Given the description of an element on the screen output the (x, y) to click on. 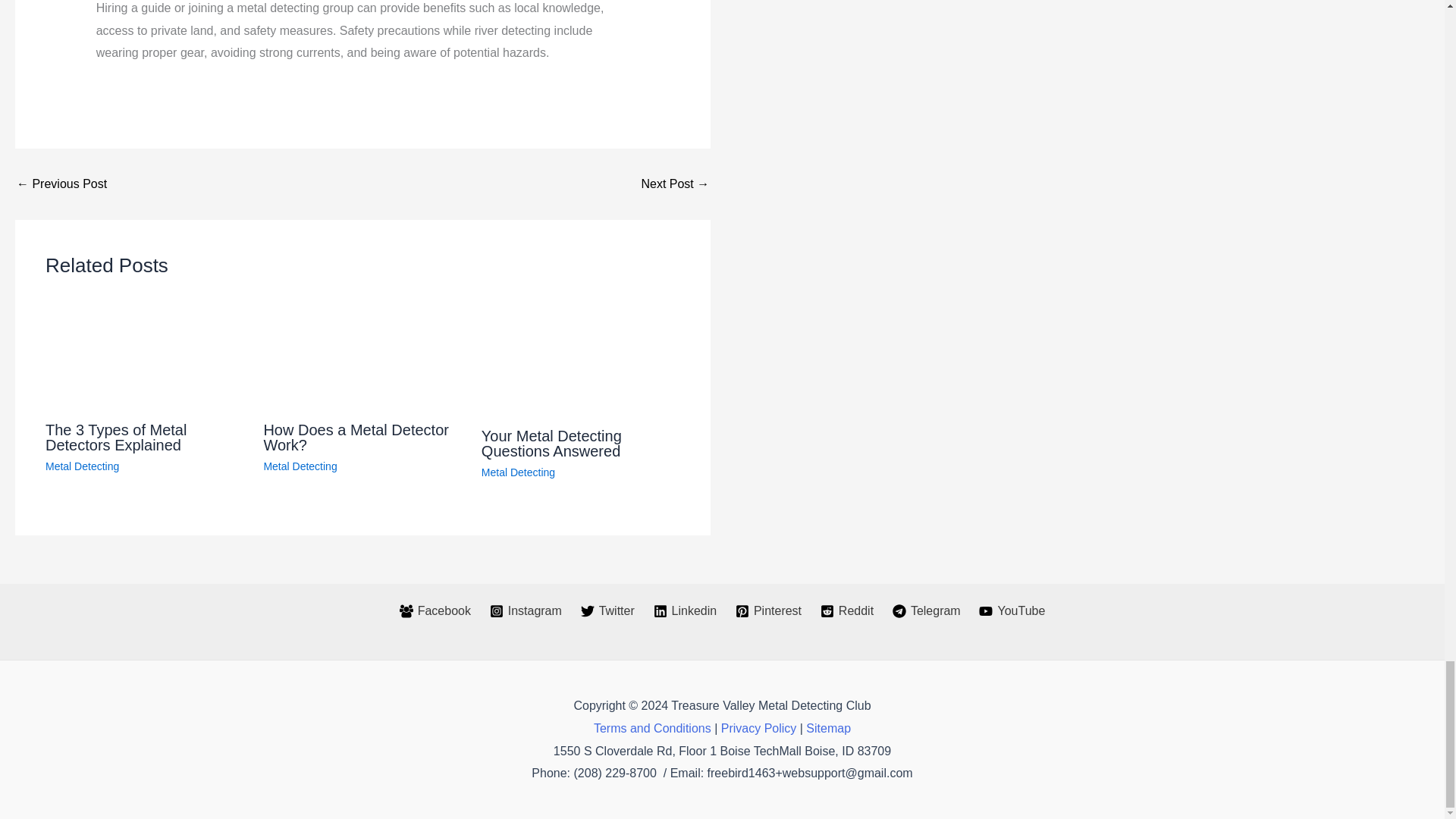
Reliable Metal Detectors For Beginners (674, 184)
Saving The Seas: The Good And Bad Of Magnet Fishing (61, 184)
